Given the description of an element on the screen output the (x, y) to click on. 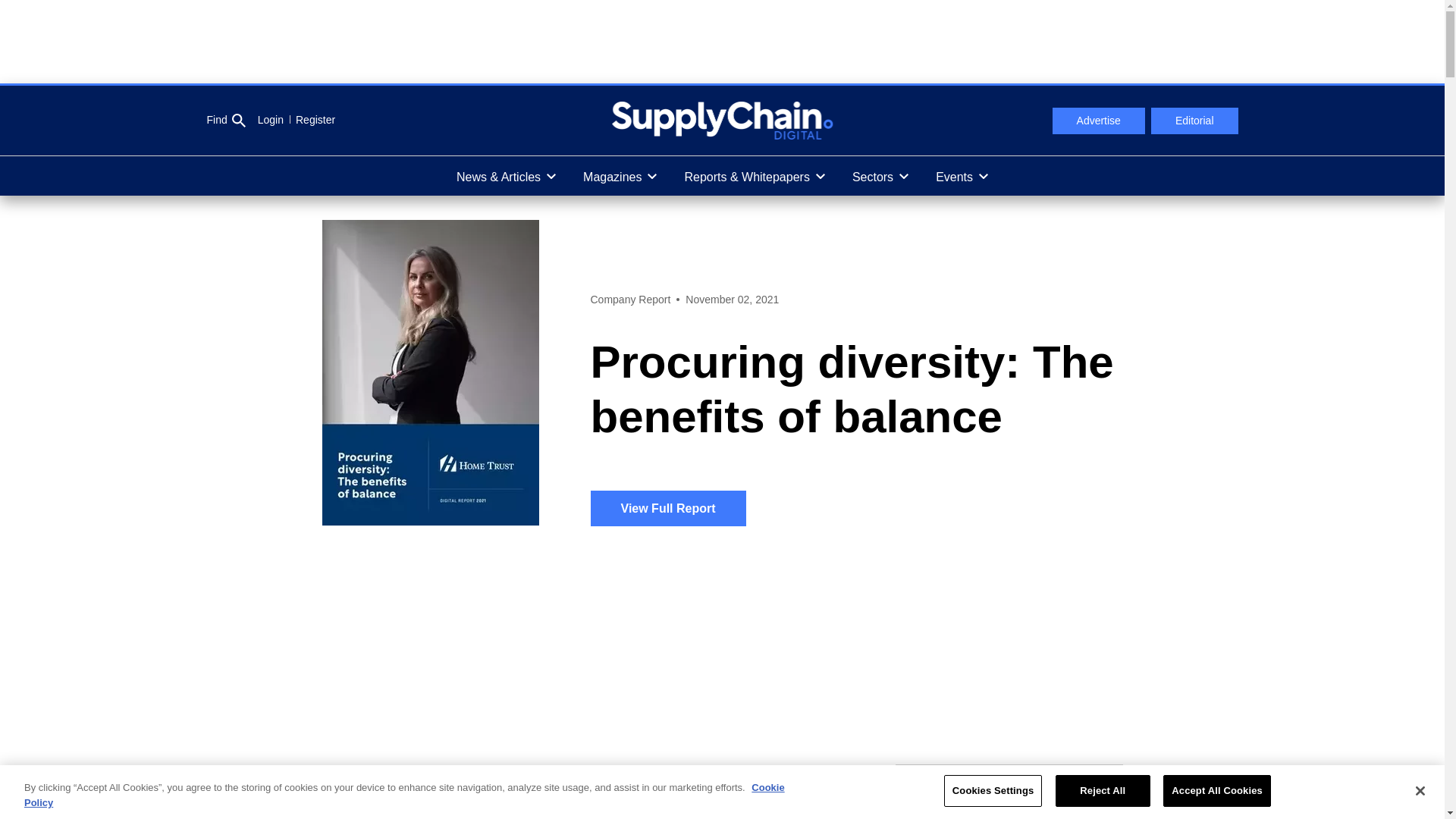
Login (270, 120)
Advertise (1098, 121)
Magazines (619, 175)
Register (308, 120)
Editorial (1195, 121)
Sectors (879, 175)
Events (961, 175)
Find (225, 120)
3rd party ad content (721, 41)
